Given the description of an element on the screen output the (x, y) to click on. 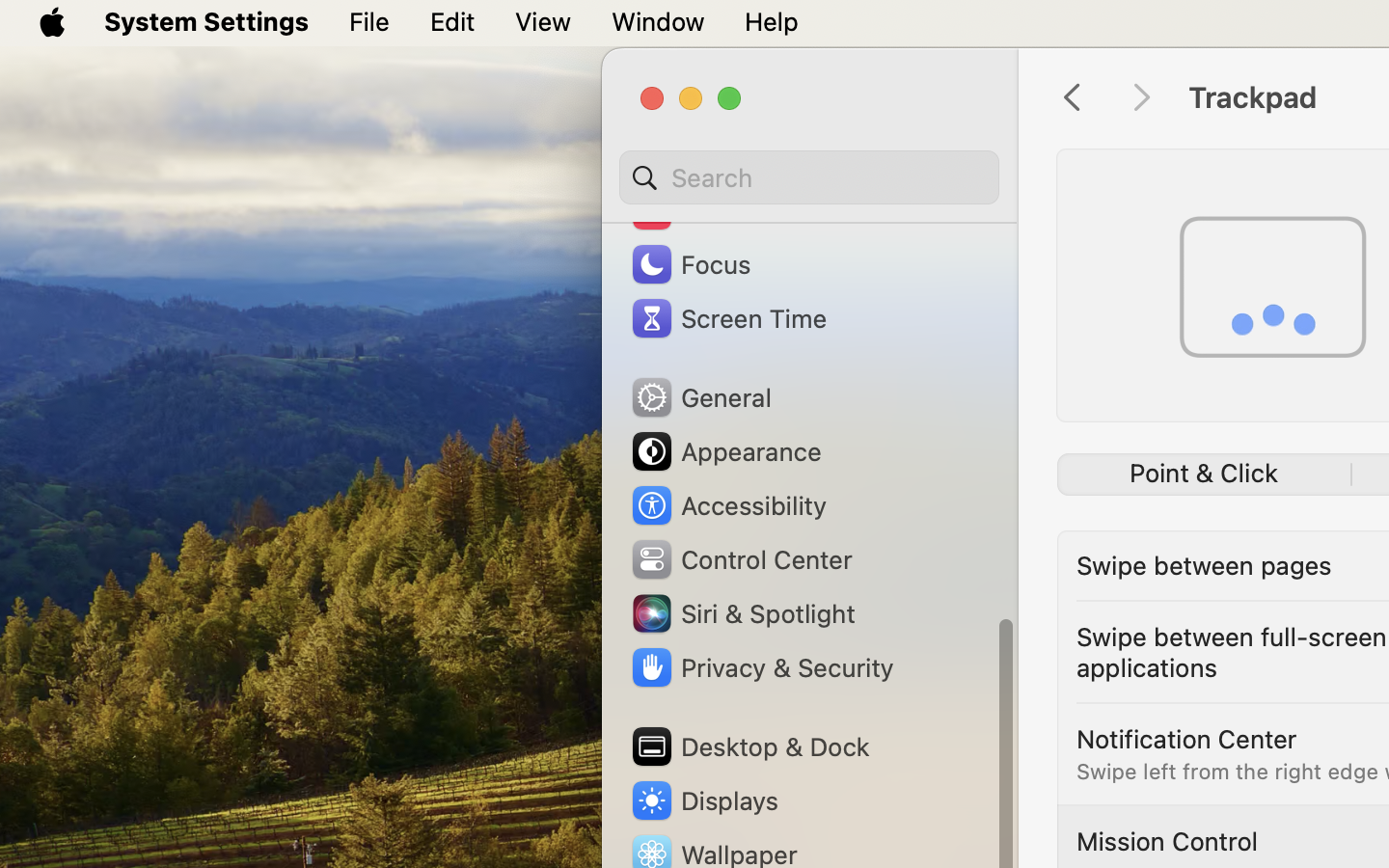
Sound Element type: AXStaticText (692, 210)
Mission Control Element type: AXStaticText (1166, 840)
Control Center Element type: AXStaticText (740, 559)
Desktop & Dock Element type: AXStaticText (749, 746)
Screen Time Element type: AXStaticText (727, 318)
